Given the description of an element on the screen output the (x, y) to click on. 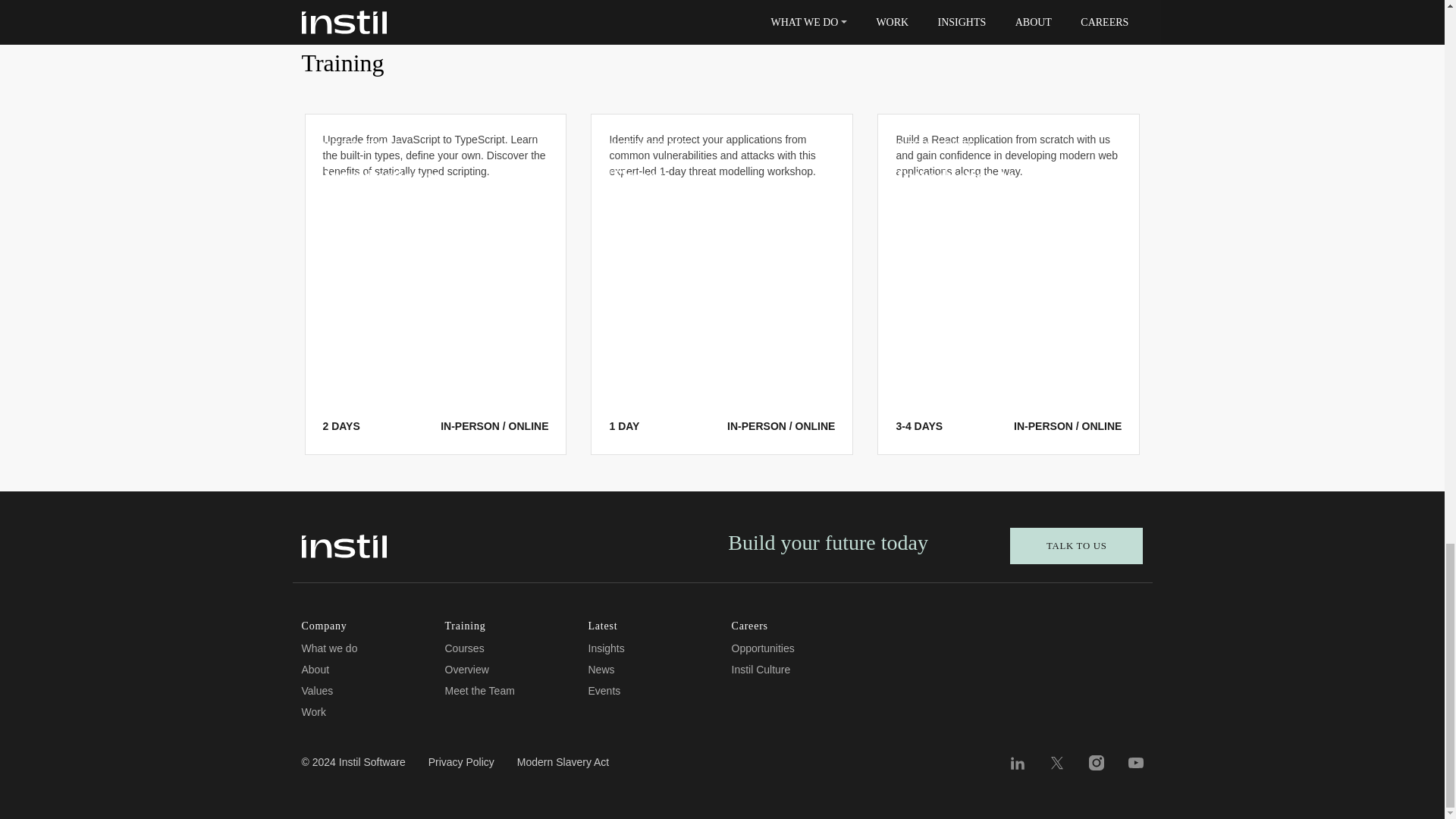
Privacy Policy (461, 768)
Work (313, 711)
Overview (465, 669)
TALK TO US (1076, 545)
Insights (606, 648)
Opportunities (761, 648)
About (315, 669)
Events (604, 690)
News (601, 669)
Courses (463, 648)
